Given the description of an element on the screen output the (x, y) to click on. 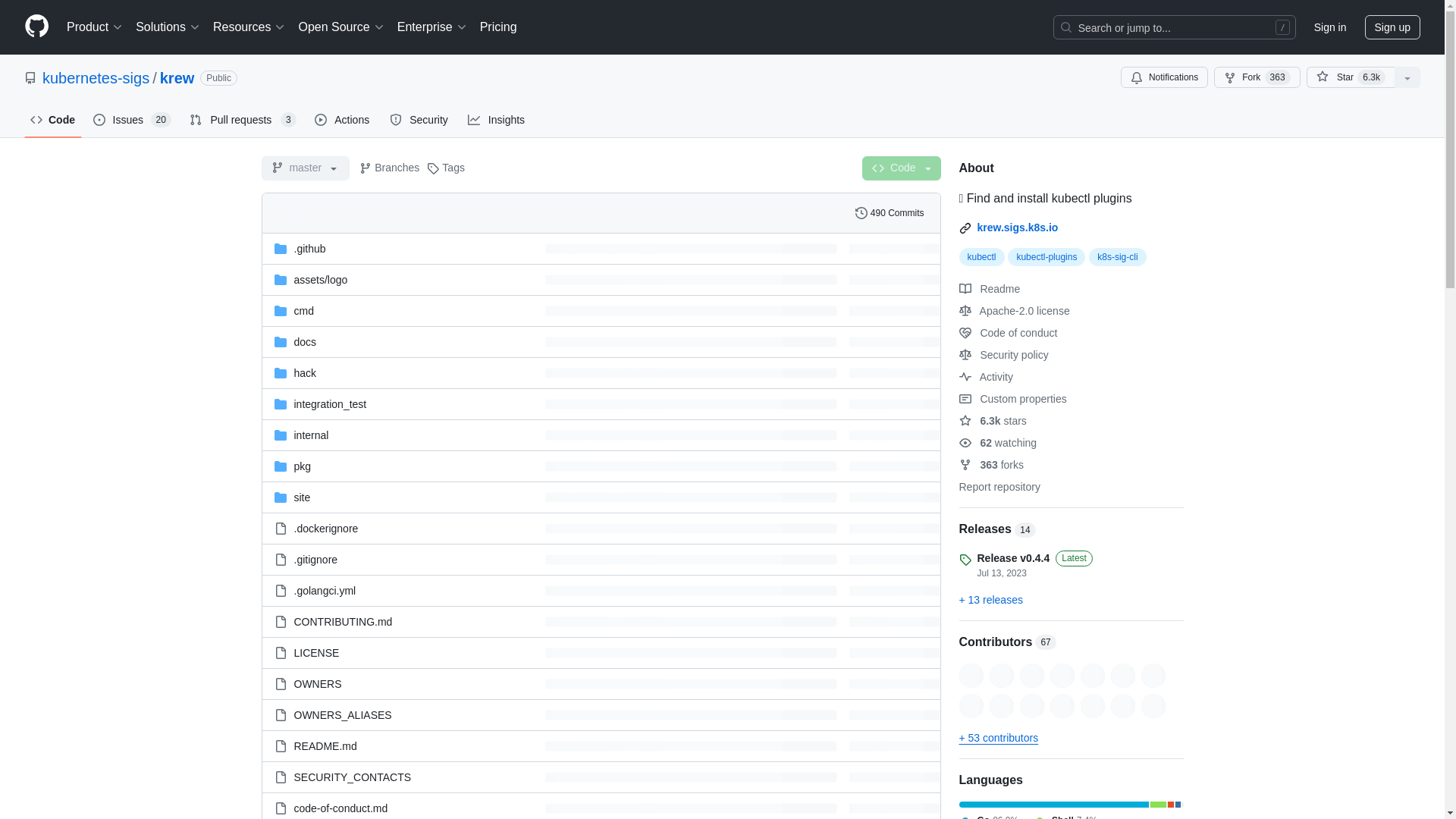
.github (310, 248)
Resources (249, 27)
20 (161, 119)
This path skips through empty directories (320, 278)
3 (289, 119)
363 (1277, 77)
Open Source (341, 27)
docs (305, 340)
cmd (304, 310)
Product (95, 27)
